Given the description of an element on the screen output the (x, y) to click on. 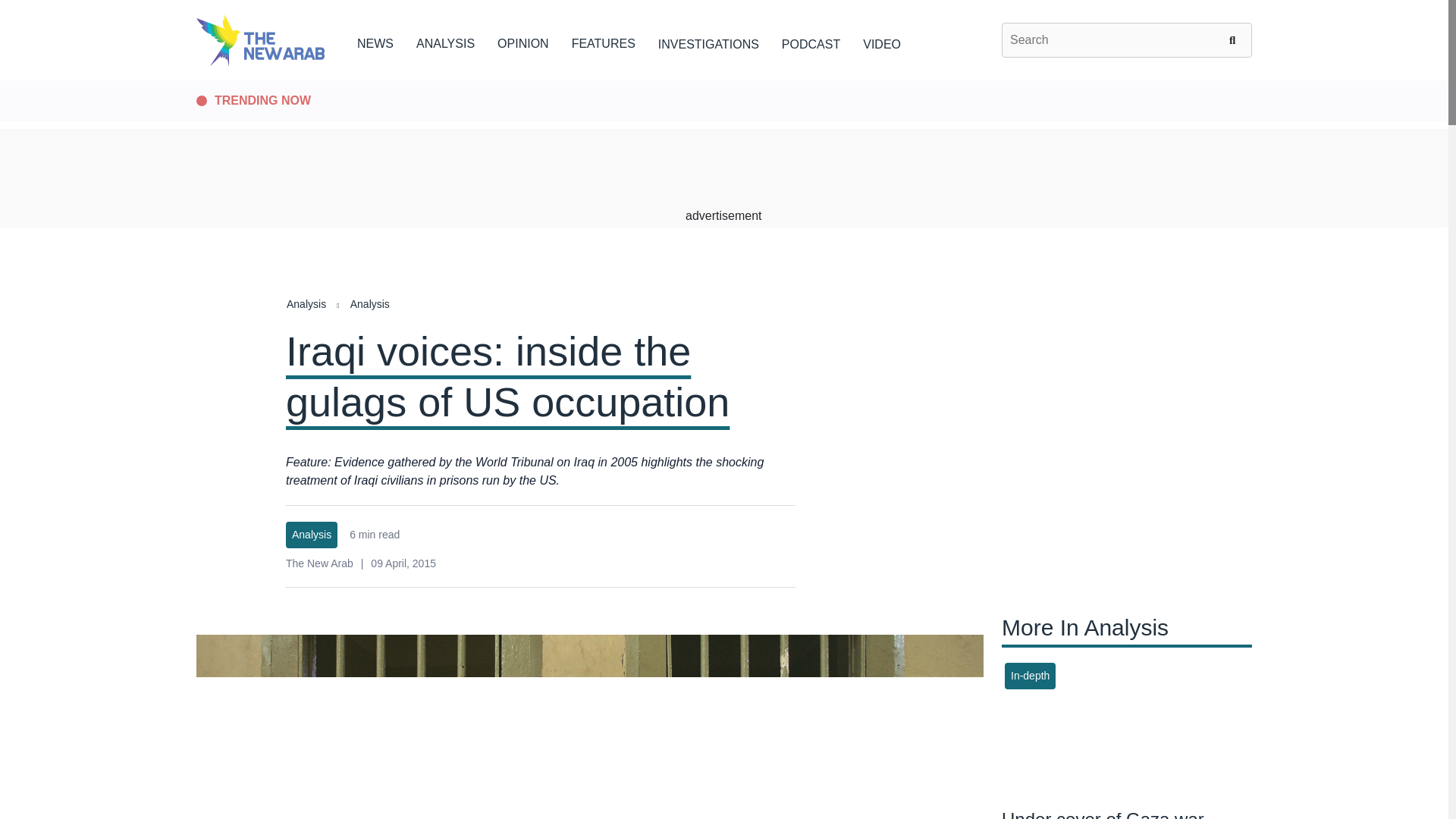
ANALYSIS (445, 41)
OPINION (523, 41)
Skip to main content (724, 81)
NEWS (375, 41)
Search (1234, 39)
